Given the description of an element on the screen output the (x, y) to click on. 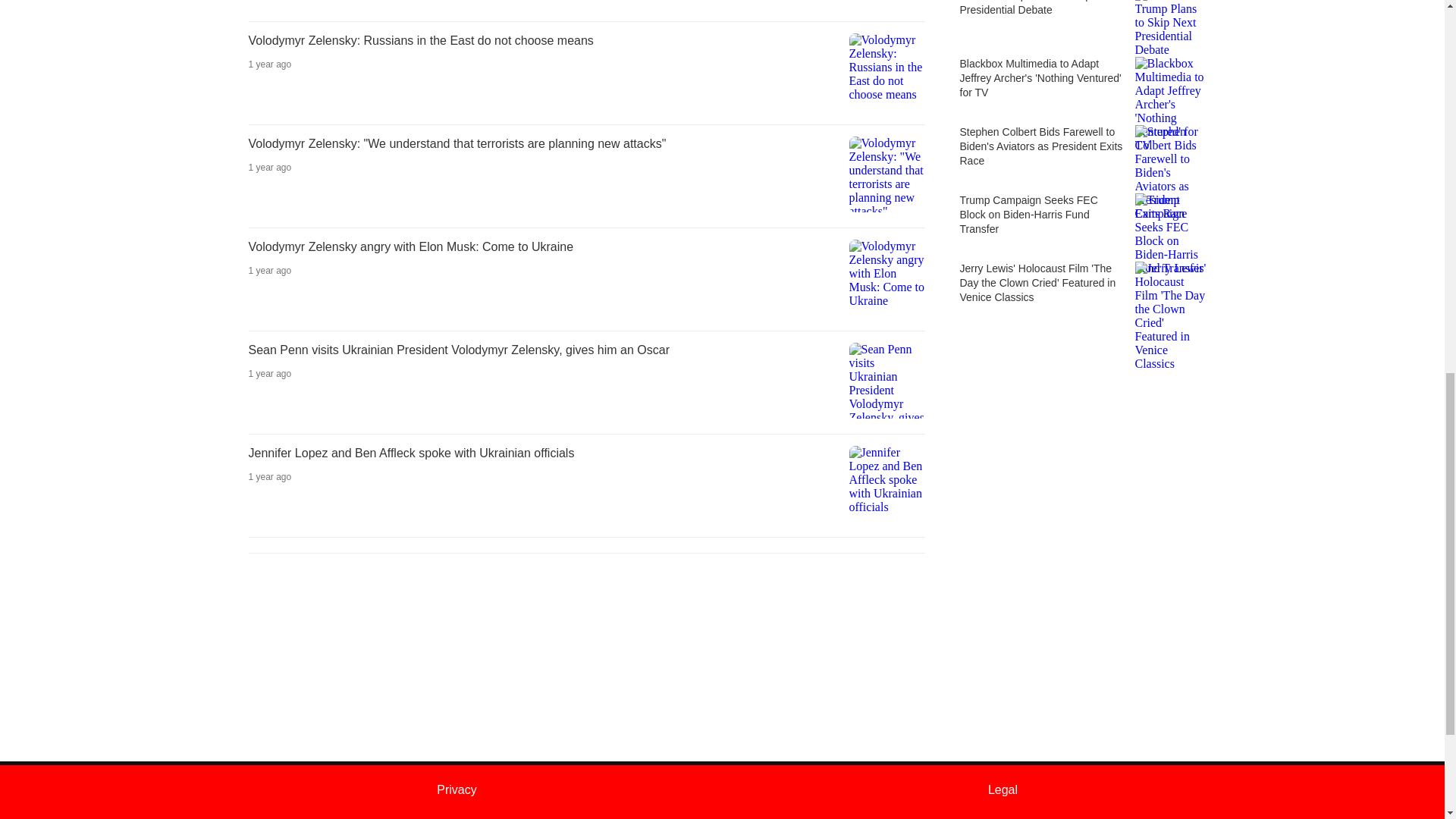
Donald Trump Plans to Skip Next Presidential Debate (1078, 20)
